Given the description of an element on the screen output the (x, y) to click on. 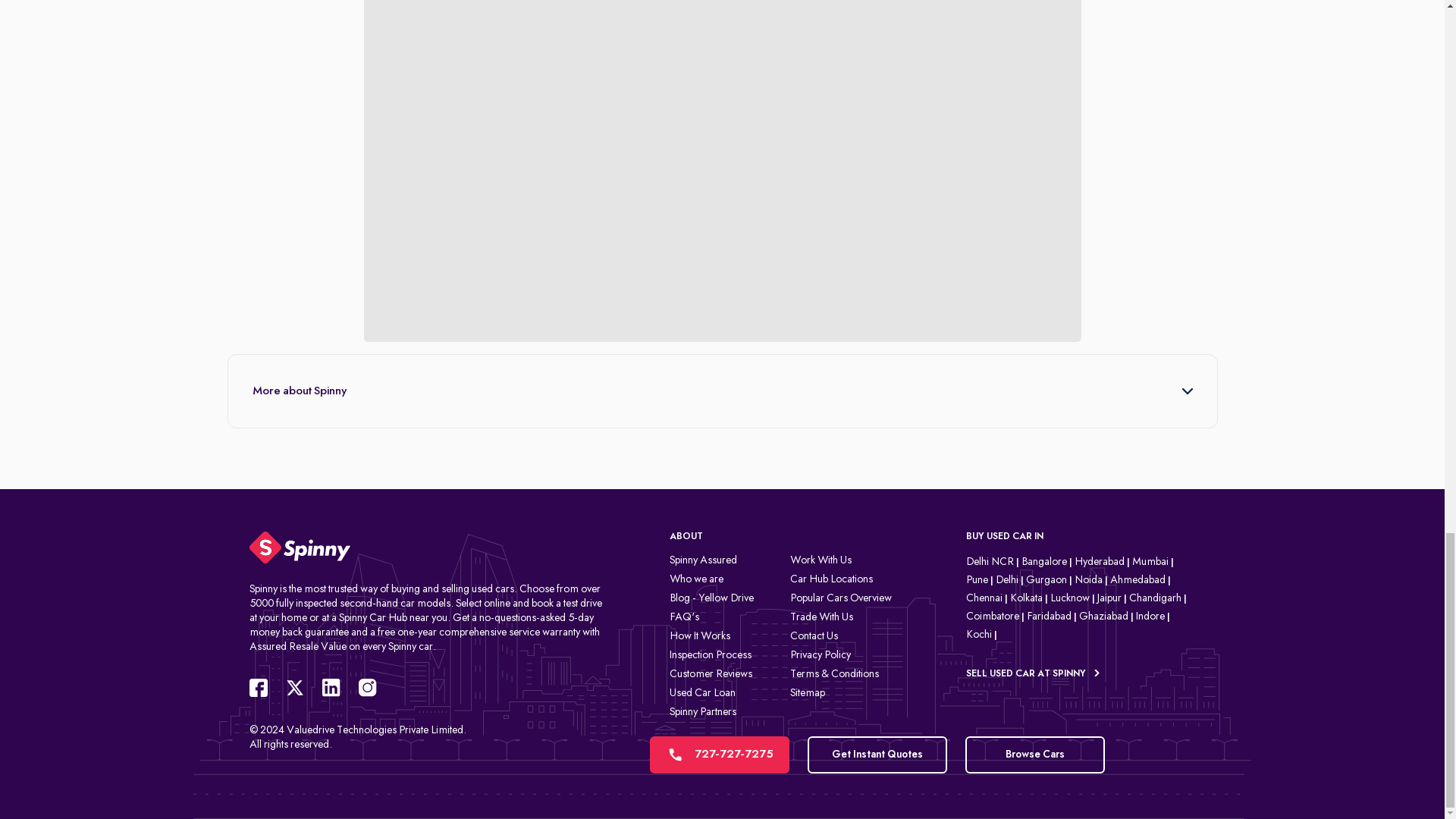
0 (278, 51)
0 (315, 51)
Color (357, 11)
